Given the description of an element on the screen output the (x, y) to click on. 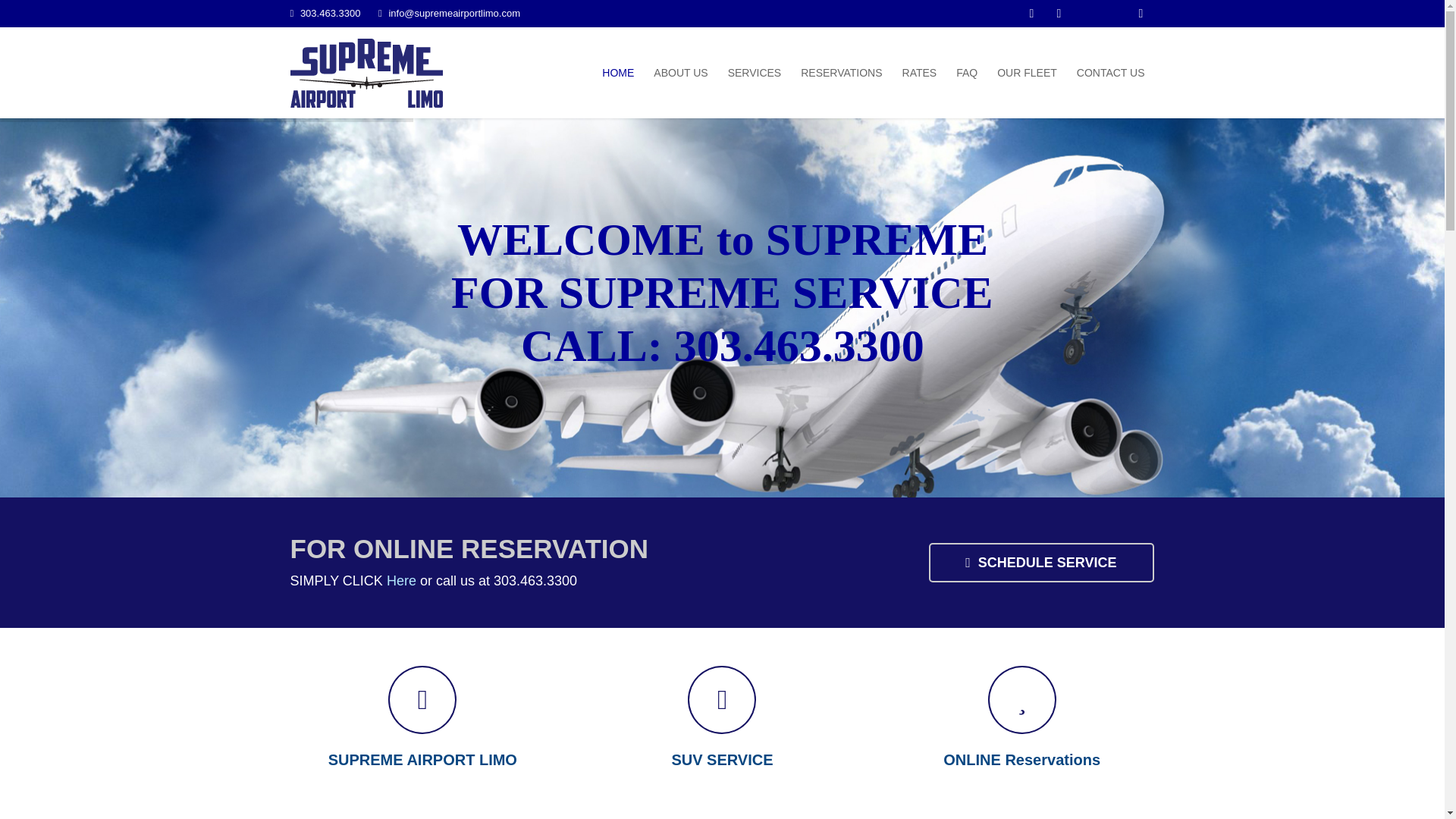
SCHEDULE SERVICE (1041, 562)
ONLINE Reservations (1021, 723)
SUV SERVICE (722, 723)
SUV SERVICE (722, 723)
RESERVATIONS (840, 72)
Here (401, 580)
CONTACT US (1110, 72)
SUPREME AIRPORT LIMO (421, 723)
ONLINE Reservations (1021, 723)
SUPREME AIRPORT LIMO (421, 723)
